Given the description of an element on the screen output the (x, y) to click on. 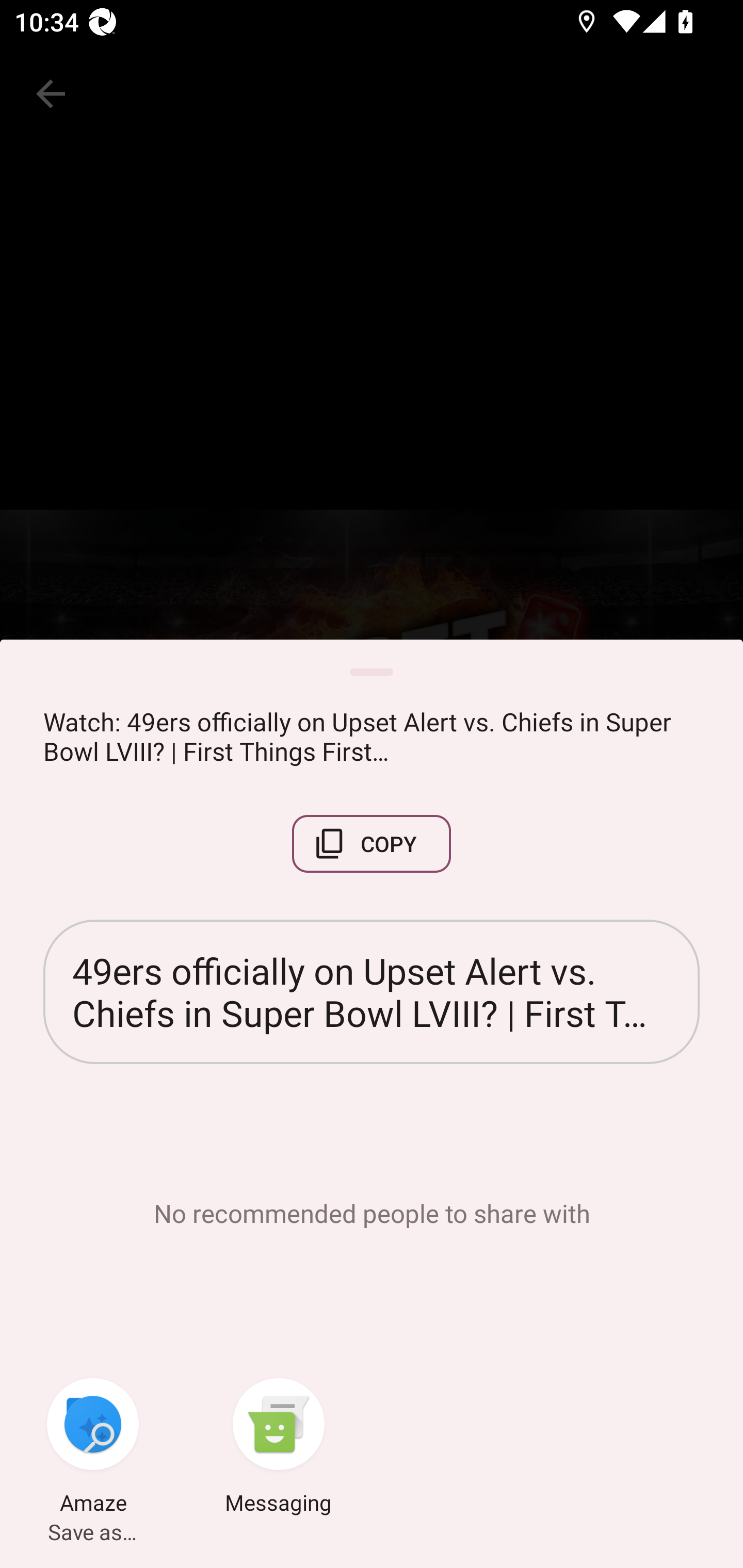
COPY (371, 844)
Amaze Save as… (92, 1448)
Messaging (278, 1448)
